Given the description of an element on the screen output the (x, y) to click on. 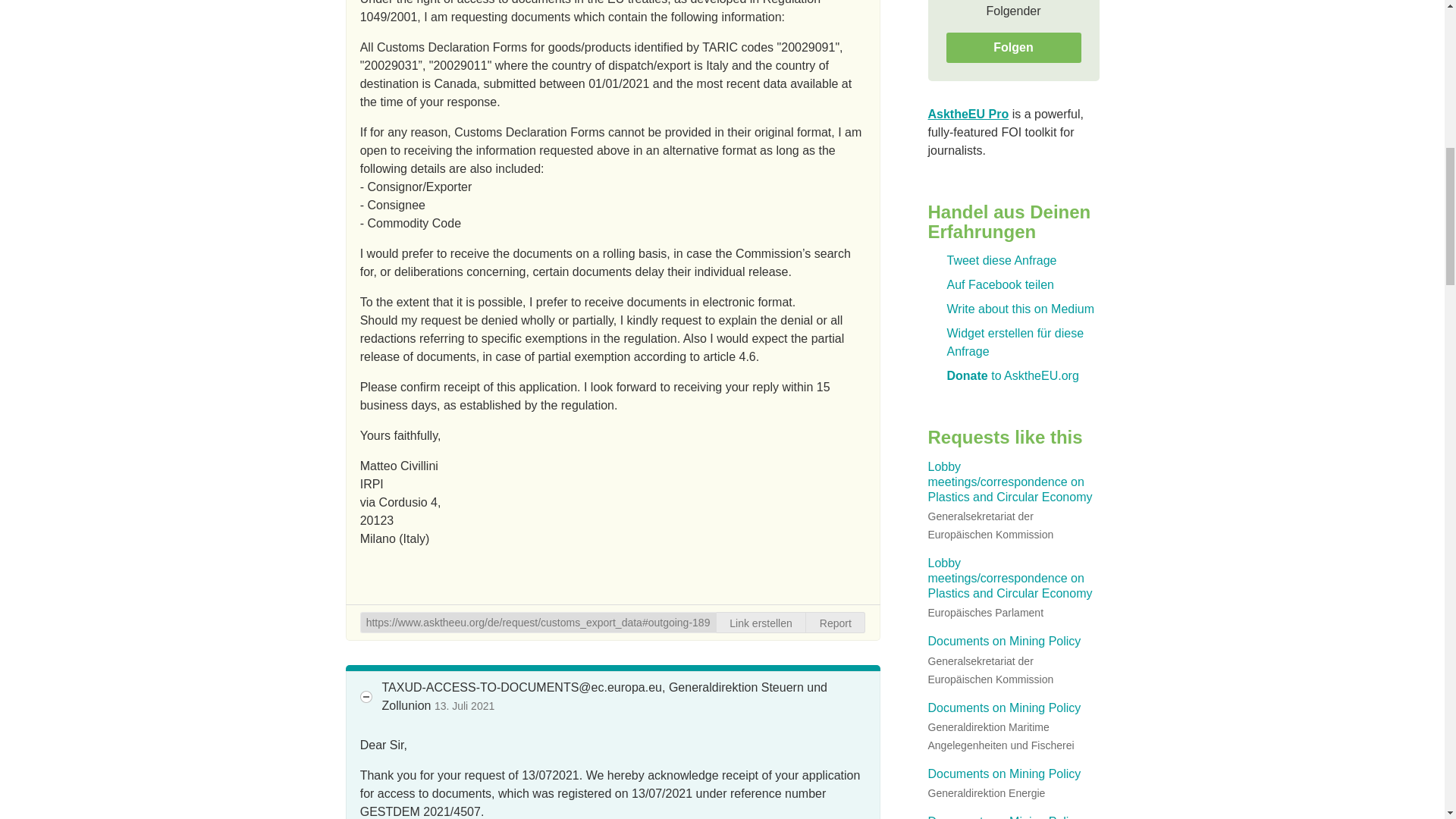
Link erstellen (761, 622)
Report (835, 622)
13. Juli 2021 (464, 705)
